Given the description of an element on the screen output the (x, y) to click on. 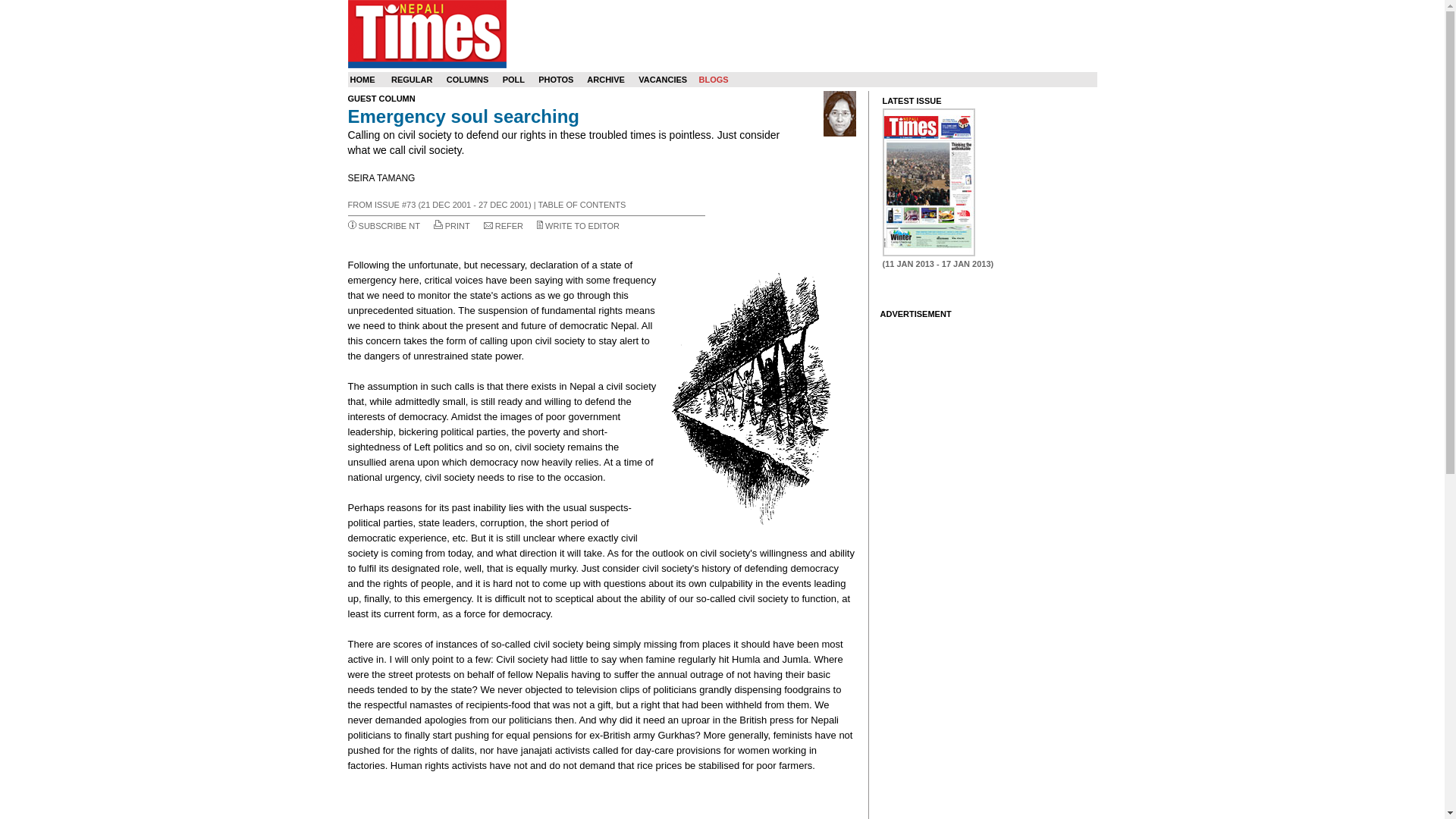
COLUMNS (467, 79)
BLOGS (713, 79)
Nepali Times (426, 33)
HOME (362, 79)
SUBSCRIBE NT (389, 225)
POLL (513, 79)
TABLE OF CONTENTS (581, 204)
PHOTOS (555, 79)
REFER (508, 225)
PRINT (458, 225)
